Given the description of an element on the screen output the (x, y) to click on. 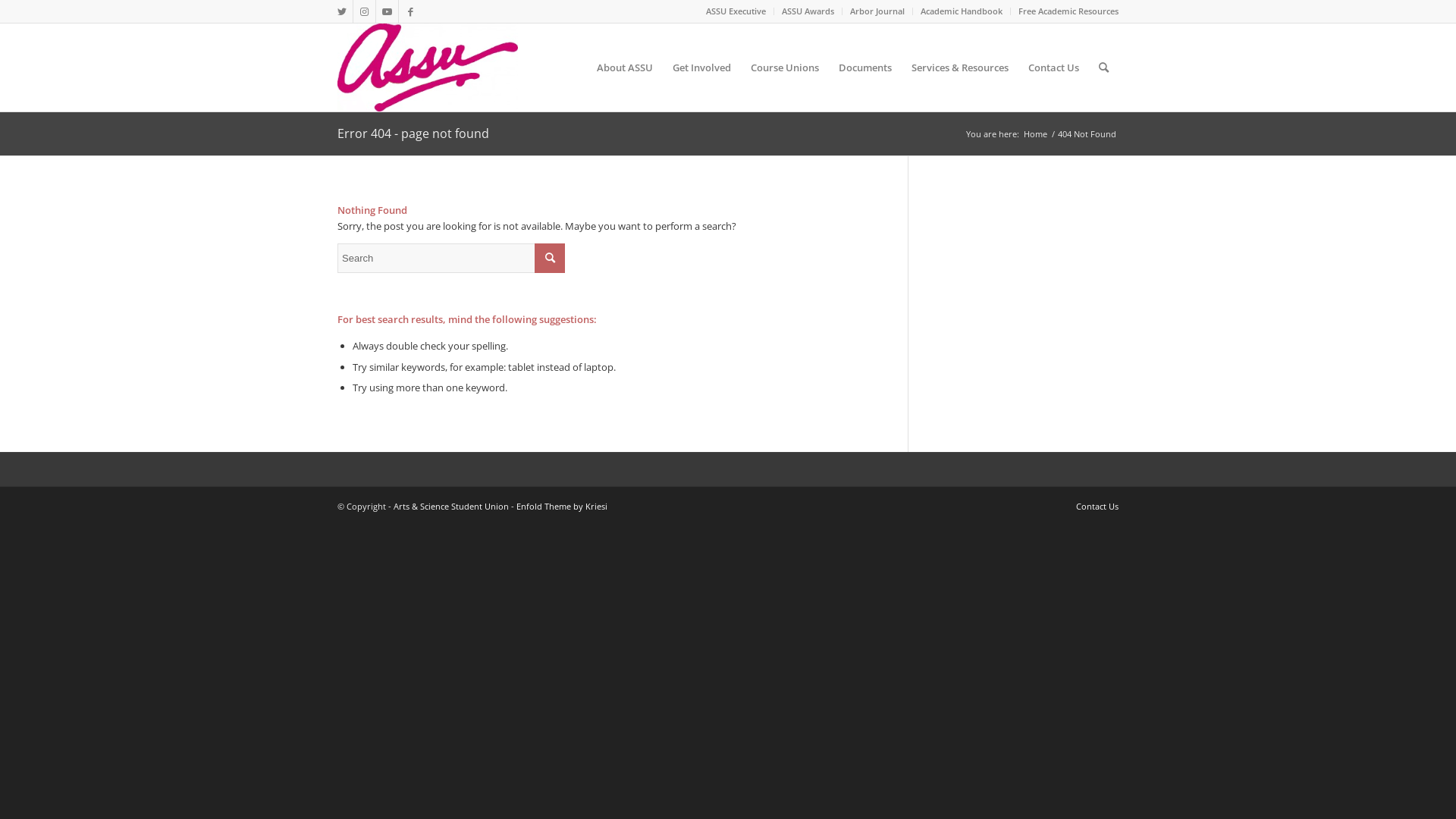
Instagram Element type: hover (364, 11)
Services & Resources Element type: text (959, 67)
Twitter Element type: hover (341, 11)
Facebook Element type: hover (409, 11)
Enfold Theme by Kriesi Element type: text (561, 505)
Course Unions Element type: text (784, 67)
Contact Us Element type: text (1053, 67)
Youtube Element type: hover (387, 11)
Arts & Science Student Union Element type: text (450, 505)
ASSU Executive Element type: text (735, 10)
Documents Element type: text (864, 67)
Get Involved Element type: text (701, 67)
Free Academic Resources Element type: text (1068, 10)
Home Element type: text (1035, 133)
Academic Handbook Element type: text (961, 10)
About ASSU Element type: text (624, 67)
Arbor Journal Element type: text (877, 10)
Contact Us Element type: text (1097, 505)
ASSU Awards Element type: text (807, 10)
